Given the description of an element on the screen output the (x, y) to click on. 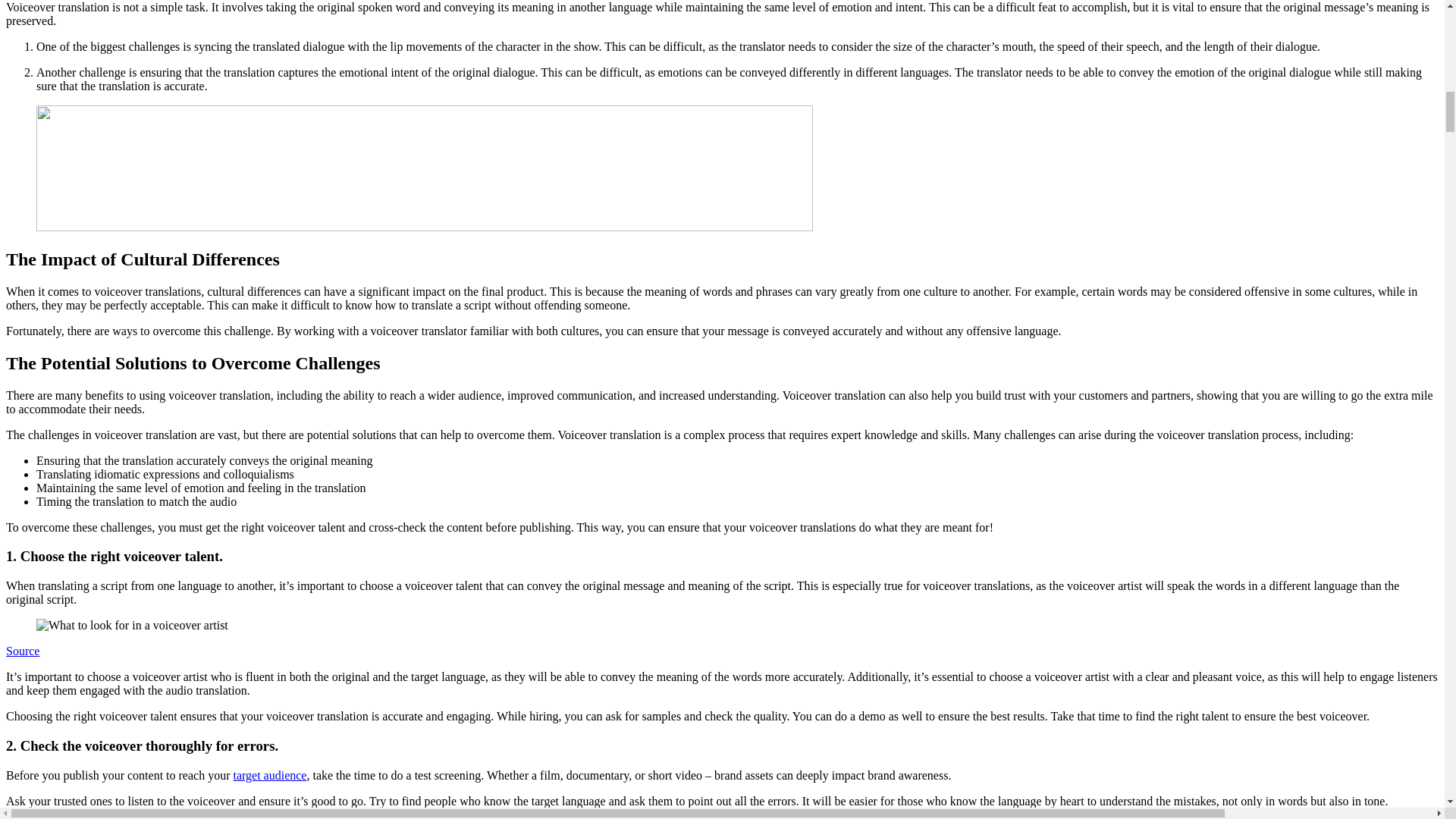
target audience (268, 775)
Source (22, 650)
